Given the description of an element on the screen output the (x, y) to click on. 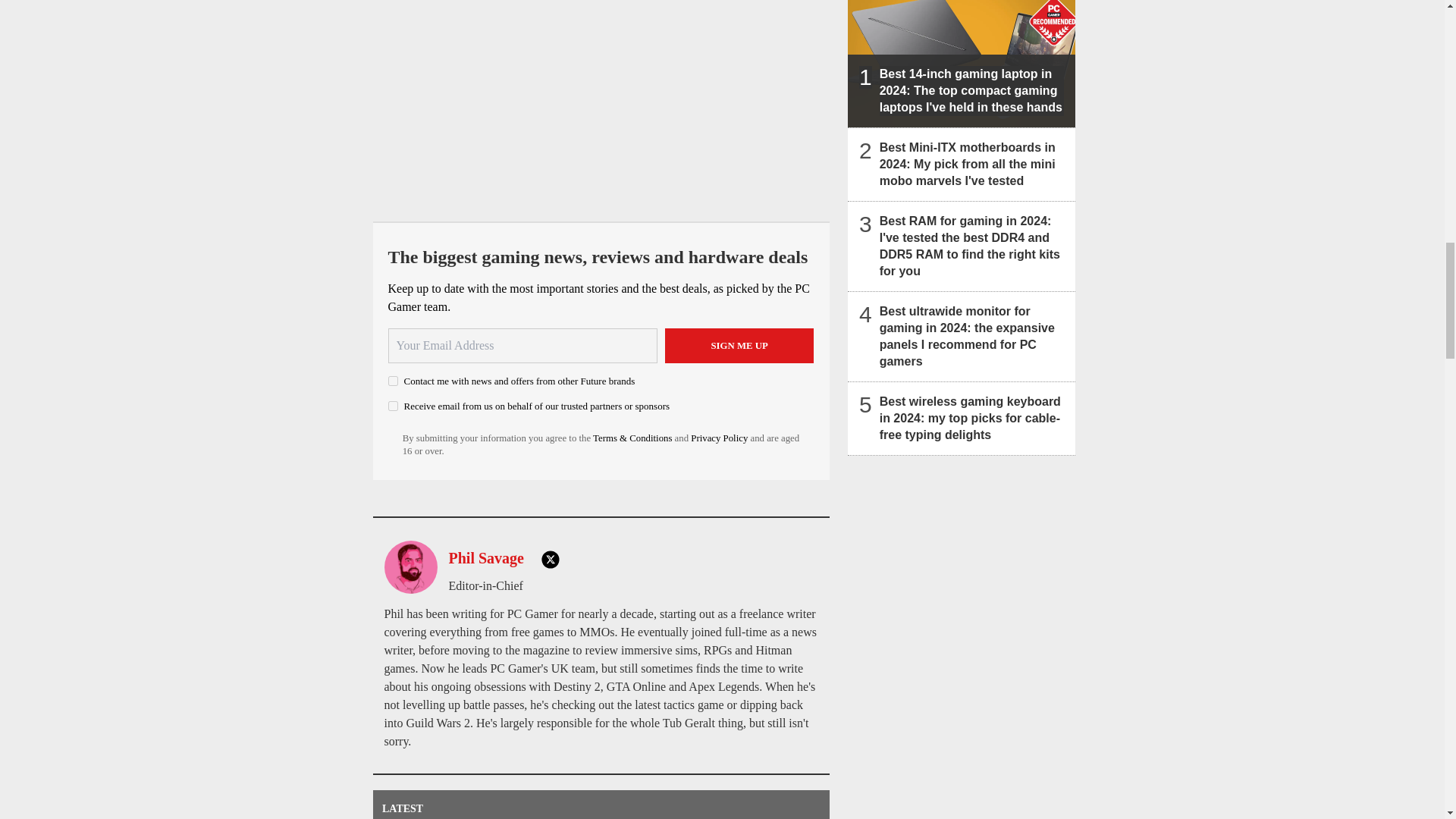
on (392, 380)
Sign me up (739, 345)
on (392, 406)
